Given the description of an element on the screen output the (x, y) to click on. 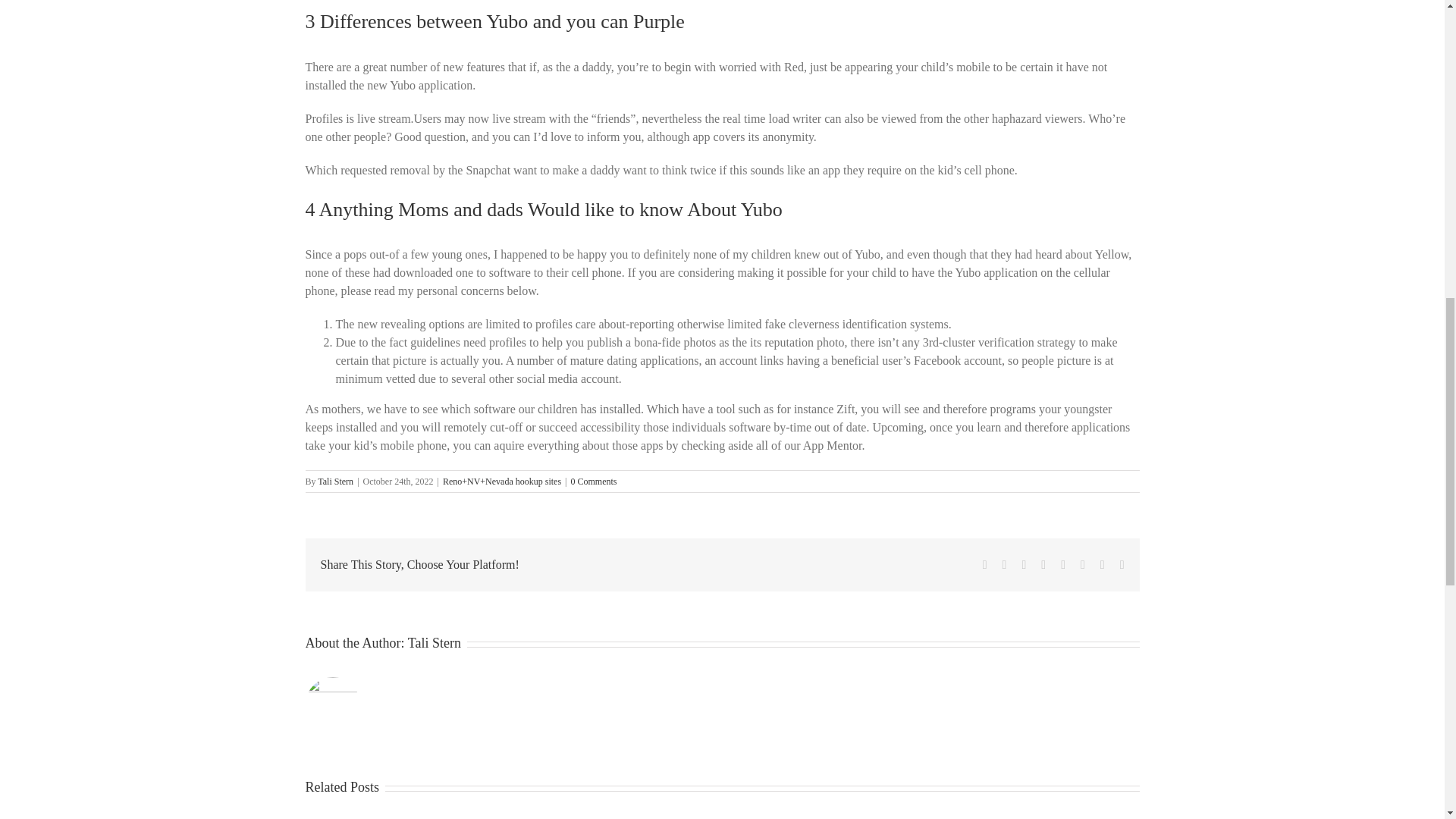
LinkedIn (1043, 564)
Tumblr (1063, 564)
Tali Stern (434, 642)
Vk (1102, 564)
Email (1121, 564)
Tali Stern (335, 480)
Posts by Tali Stern (335, 480)
0 Comments (593, 480)
Email (1121, 564)
Reddit (1024, 564)
Pinterest (1082, 564)
Vk (1102, 564)
Posts by Tali Stern (434, 642)
Tumblr (1063, 564)
LinkedIn (1043, 564)
